Given the description of an element on the screen output the (x, y) to click on. 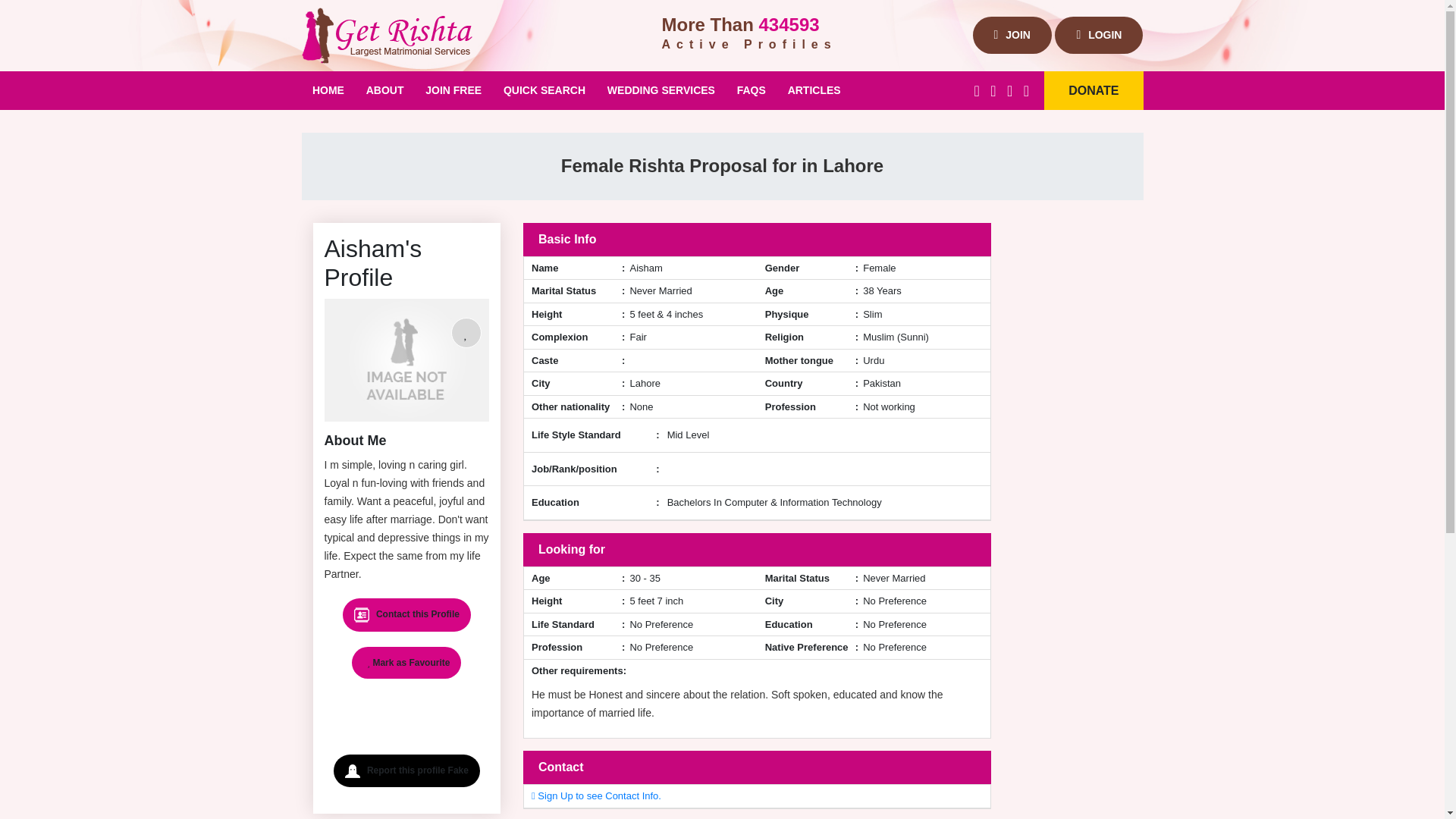
Wedding Services in Pakistan (660, 90)
QUICK SEARCH (544, 90)
Report this profile Fake (406, 770)
ABOUT (384, 90)
DONATE (1092, 90)
Pakistan matrimonial (386, 35)
girl marriage proposal Islamabad (544, 90)
marriage proposal Pakistan (453, 90)
Pakistan matrimonial (328, 90)
LOGIN (1098, 35)
ARTICLES (813, 90)
JOIN FREE (453, 90)
marriage bureau website Pakistan (384, 90)
WEDDING SERVICES (660, 90)
FAQs (750, 90)
